Given the description of an element on the screen output the (x, y) to click on. 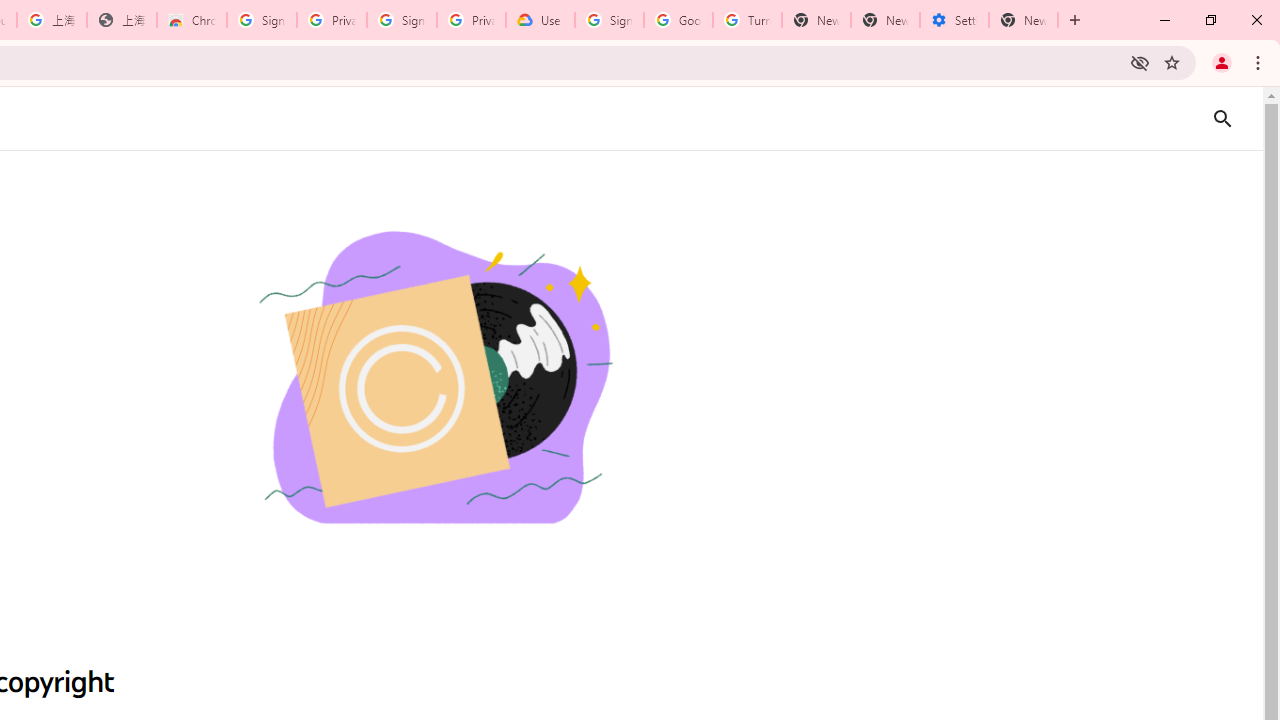
Settings - System (954, 20)
Turn cookies on or off - Computer - Google Account Help (747, 20)
Copyright (433, 380)
Sign in - Google Accounts (261, 20)
